Given the description of an element on the screen output the (x, y) to click on. 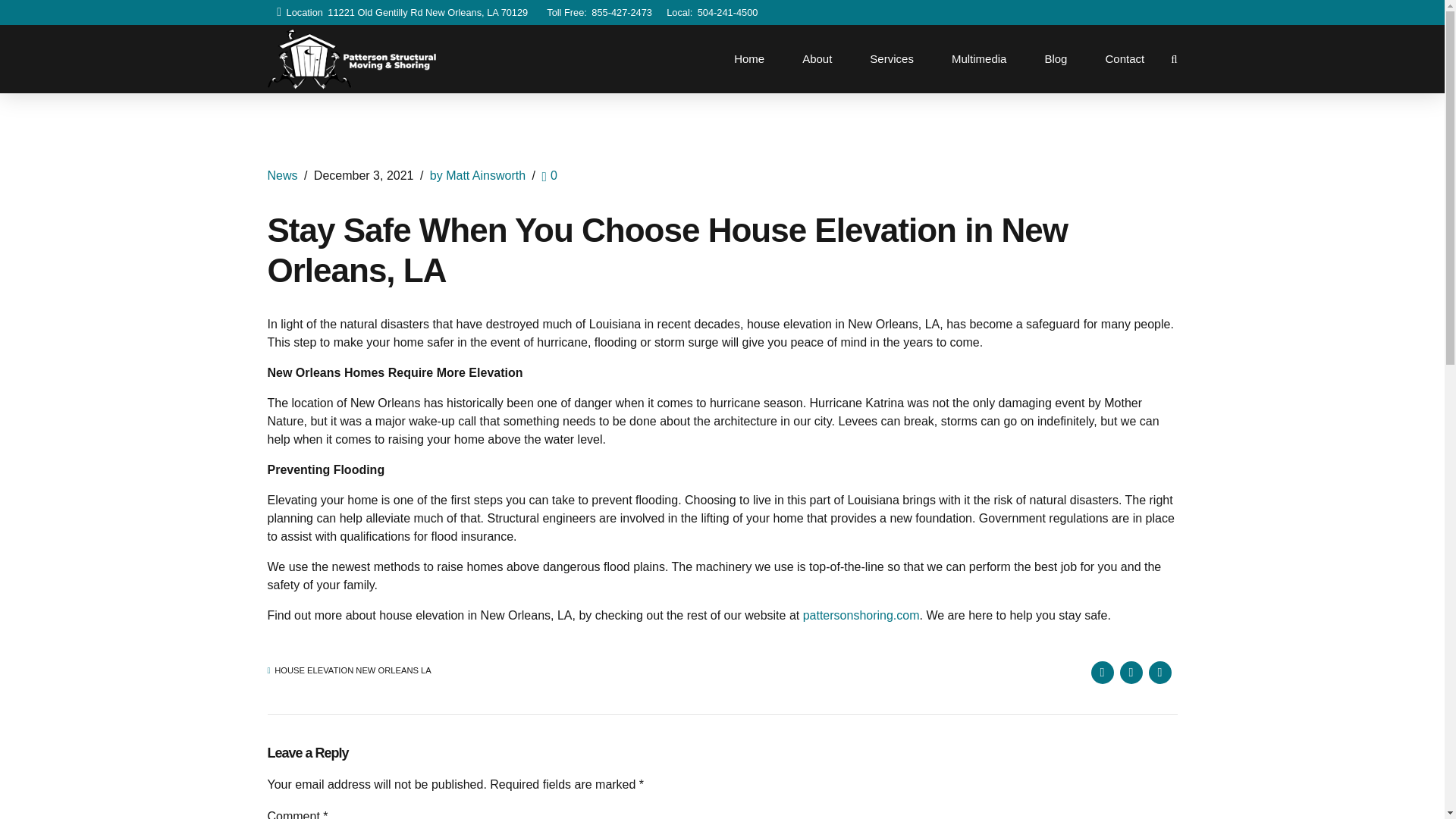
Share on Facebook (1101, 671)
Local:504-241-4500 (710, 12)
Services (891, 59)
0 (548, 174)
Toll Free:855-427-2473 (594, 12)
About (817, 59)
Services (891, 59)
Multimedia (979, 59)
Blog (1055, 59)
Multimedia (979, 59)
Home (748, 59)
Share on Twitter (1130, 671)
by Matt Ainsworth (477, 174)
Contact (1123, 59)
pattersonshoring.com (861, 615)
